Given the description of an element on the screen output the (x, y) to click on. 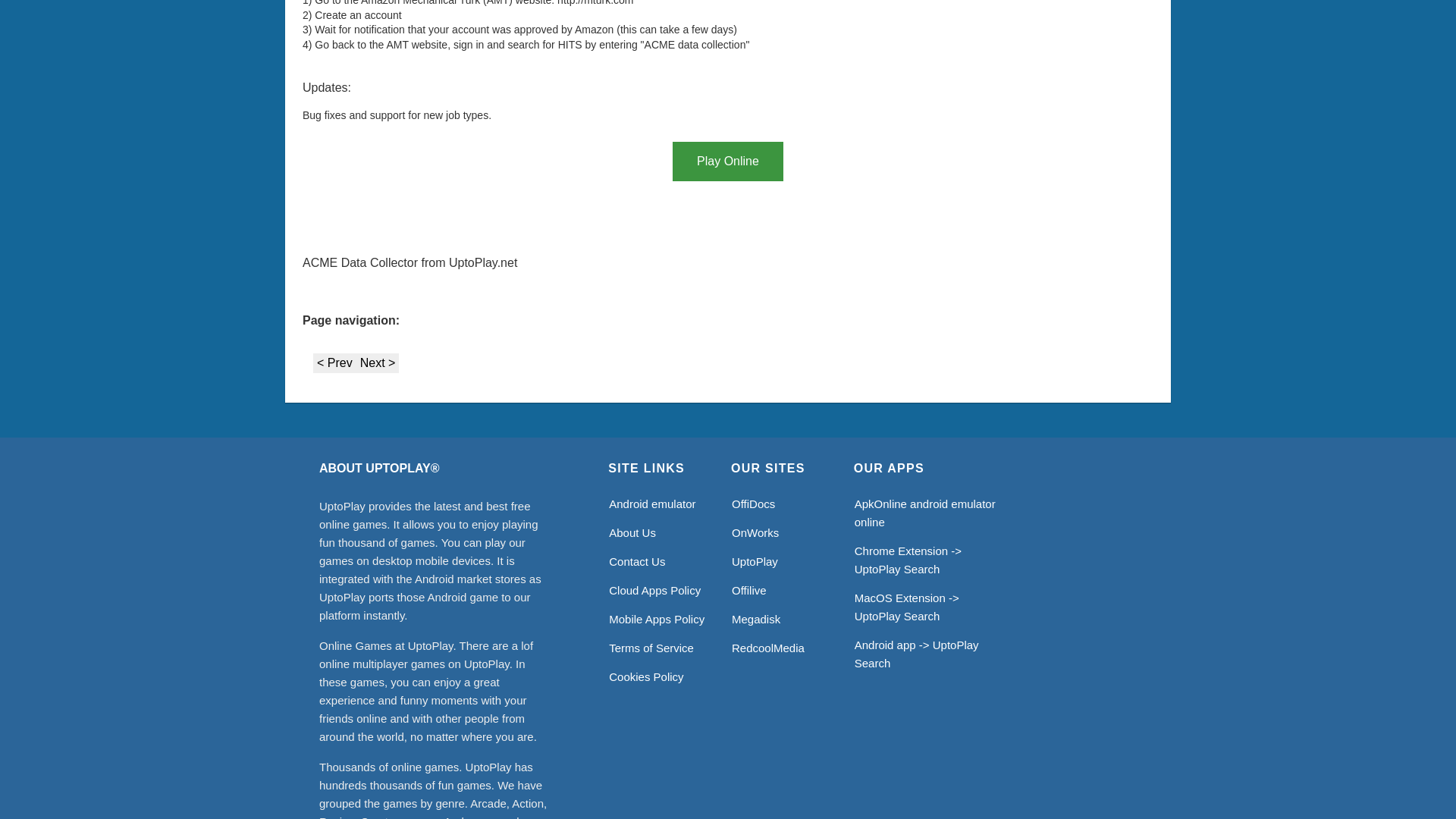
Contact Us (636, 561)
Play Online (727, 160)
Mobile Apps Policy (656, 618)
Cloud Apps Policy (654, 590)
OffiDocs (753, 503)
Terms of Service (651, 647)
OnWorks (755, 532)
Megadisk (756, 618)
Cookies Policy (645, 676)
Offilive (749, 590)
About Us (632, 532)
UptoPlay (754, 561)
Android emulator (651, 503)
